Given the description of an element on the screen output the (x, y) to click on. 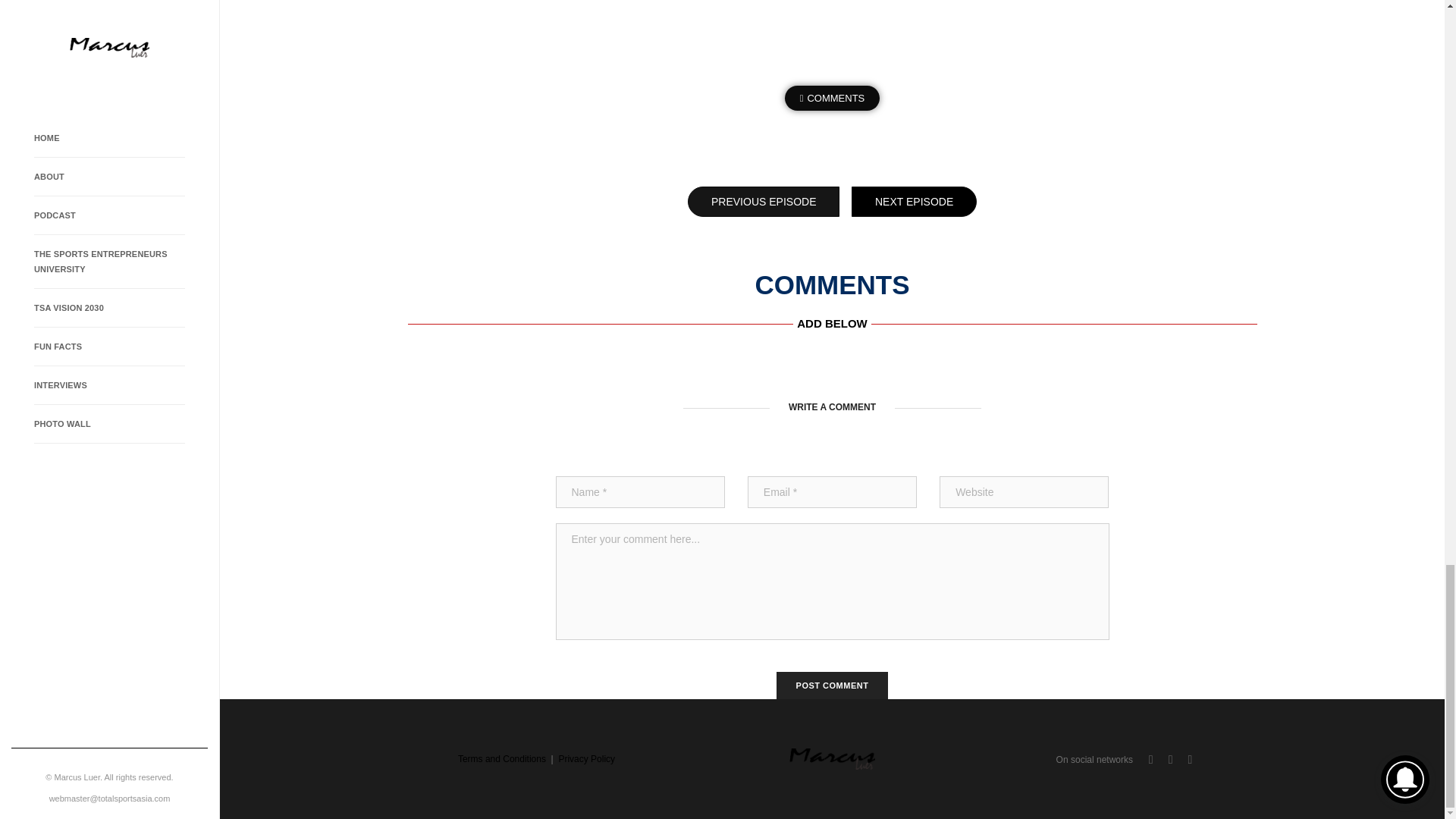
Post Comment (832, 685)
COMMENTS (832, 97)
The Sports Entrepreneurs Podcast by Marcus Luer (832, 4)
PREVIOUS EPISODE (763, 201)
NEXT EPISODE (913, 201)
Terms and Conditions (502, 758)
Privacy Policy (585, 758)
Post Comment (832, 685)
